Given the description of an element on the screen output the (x, y) to click on. 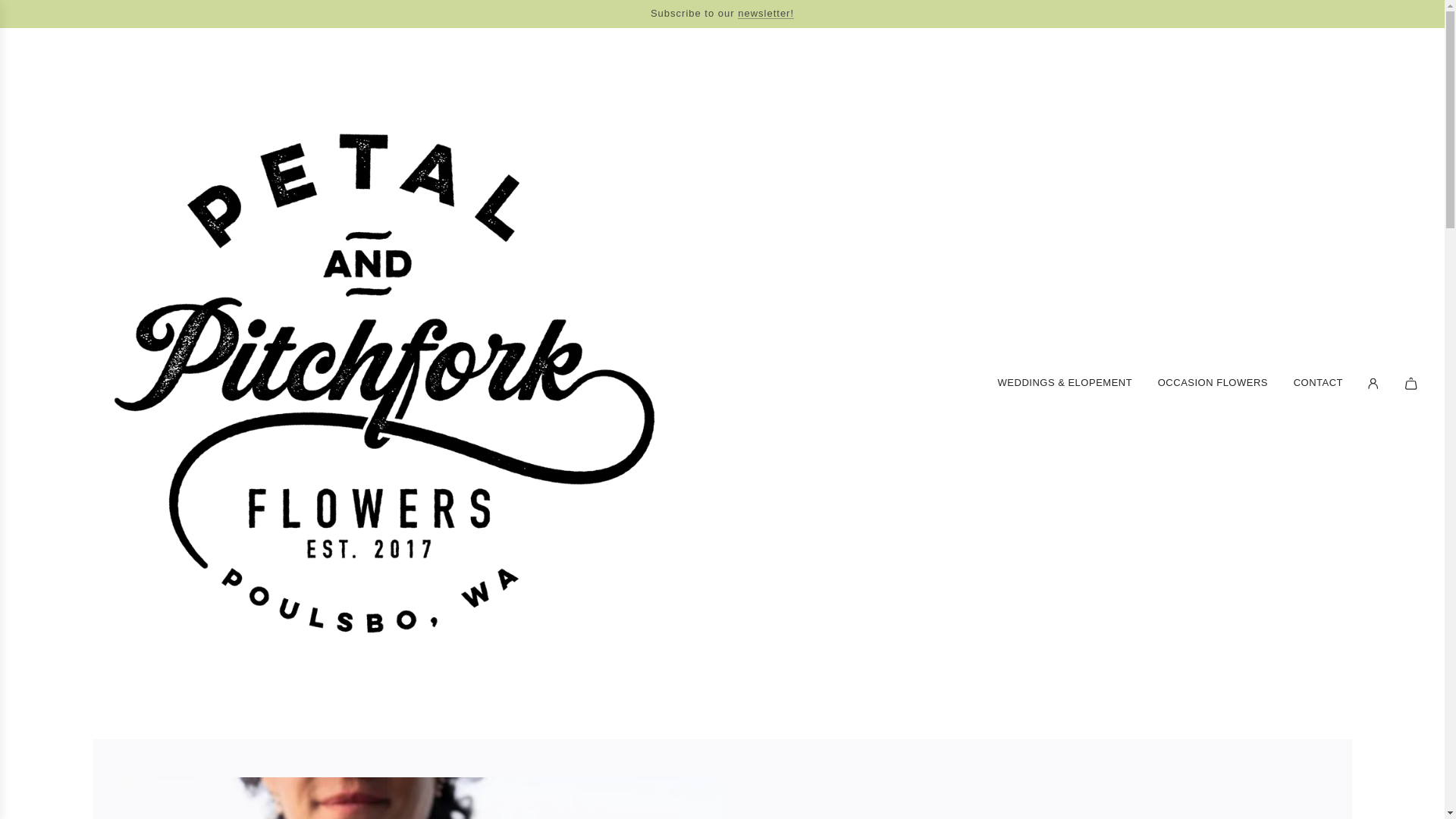
Log in (1372, 383)
CONTACT (1318, 382)
Subscribe to our newsletter! (765, 12)
OCCASION FLOWERS (1213, 382)
newsletter! (765, 12)
